Given the description of an element on the screen output the (x, y) to click on. 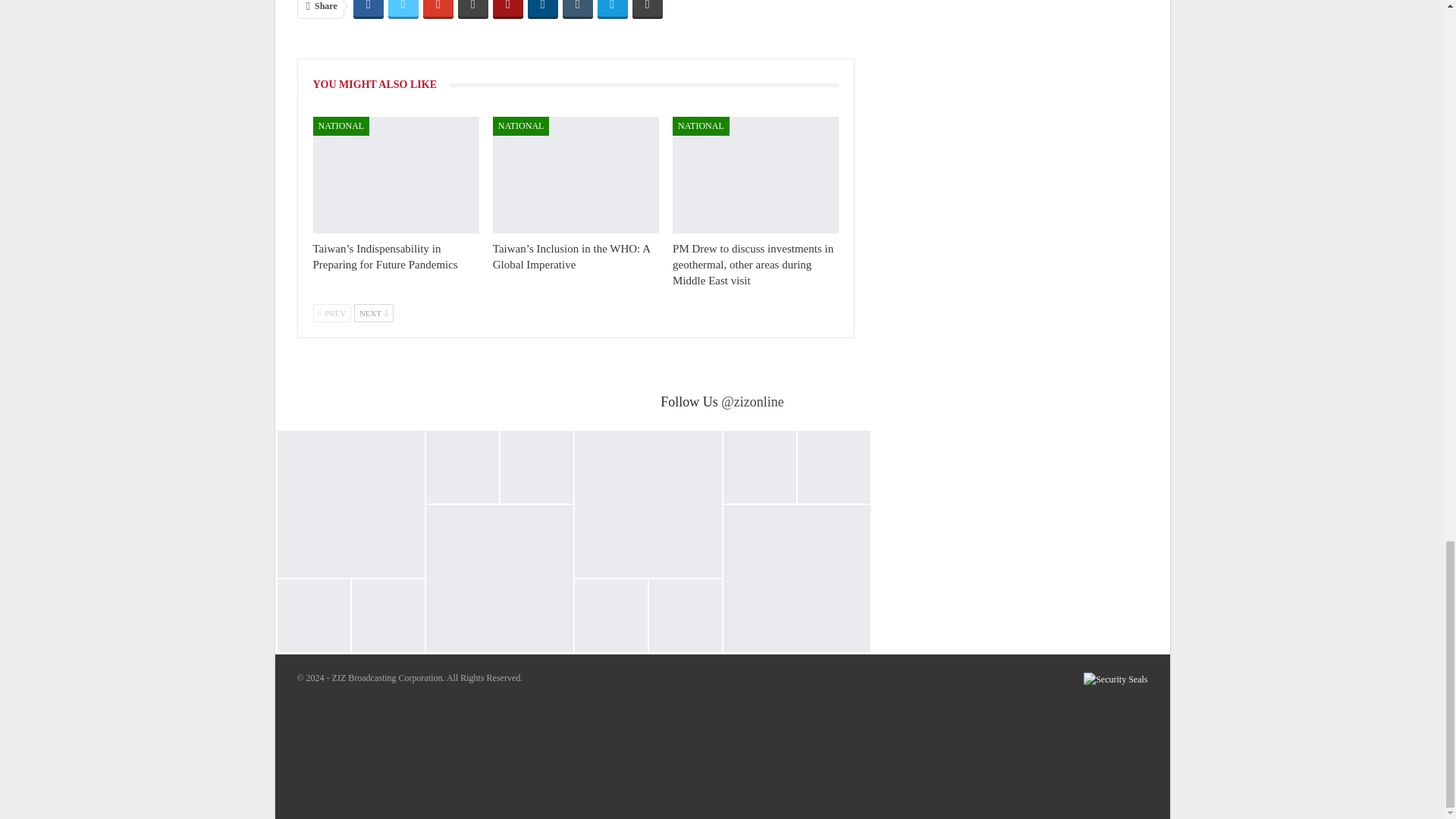
Previous (331, 312)
Next (373, 312)
